Given the description of an element on the screen output the (x, y) to click on. 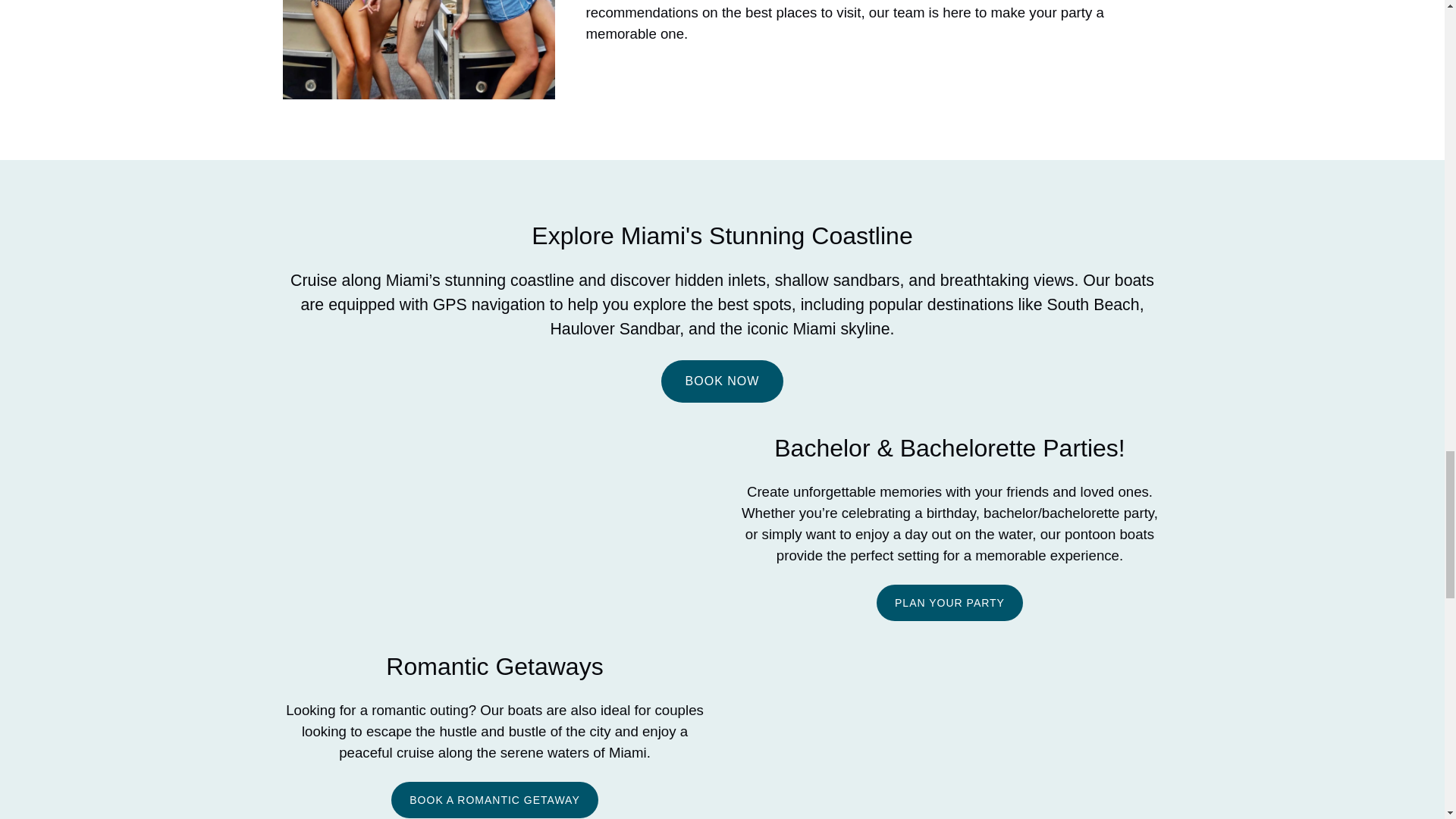
BOOK A ROMANTIC GETAWAY (493, 789)
ProfessionalStaff (418, 49)
PLAN YOUR PARTY (949, 593)
BOOK NOW (722, 368)
